Given the description of an element on the screen output the (x, y) to click on. 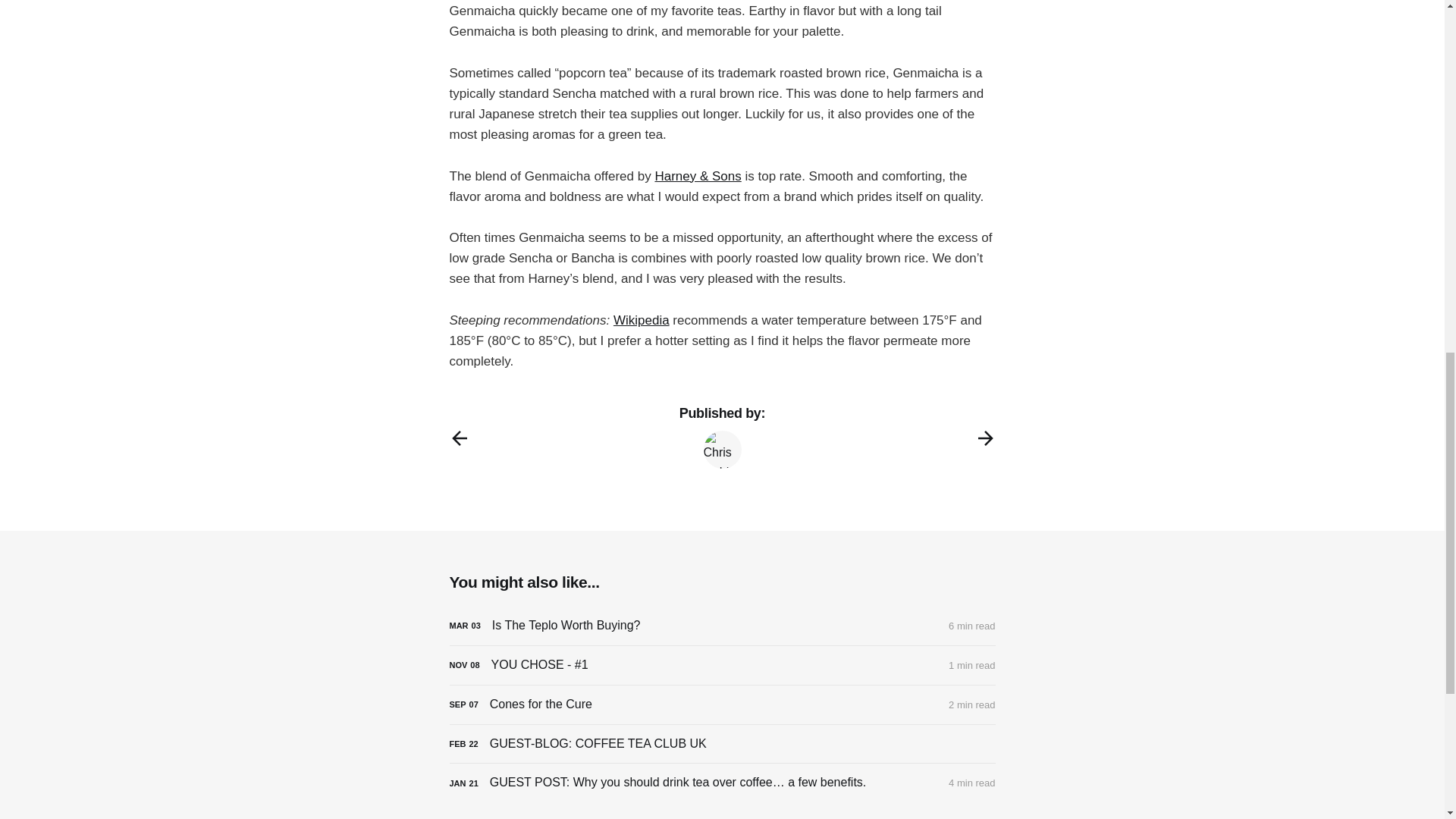
Wikipedia (640, 319)
Wikipedia: Genmaicha (640, 319)
